Given the description of an element on the screen output the (x, y) to click on. 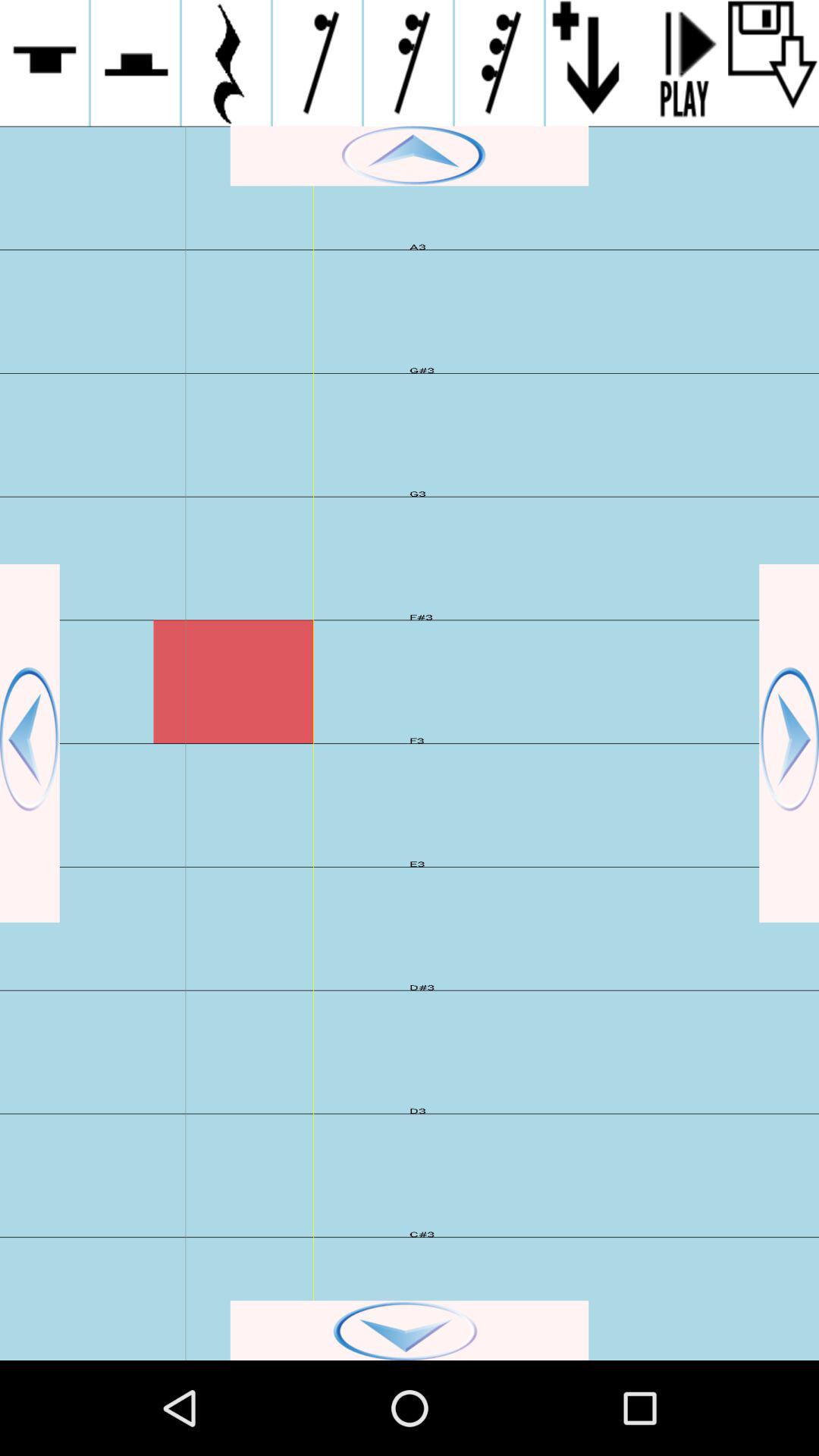
next button (789, 742)
